Given the description of an element on the screen output the (x, y) to click on. 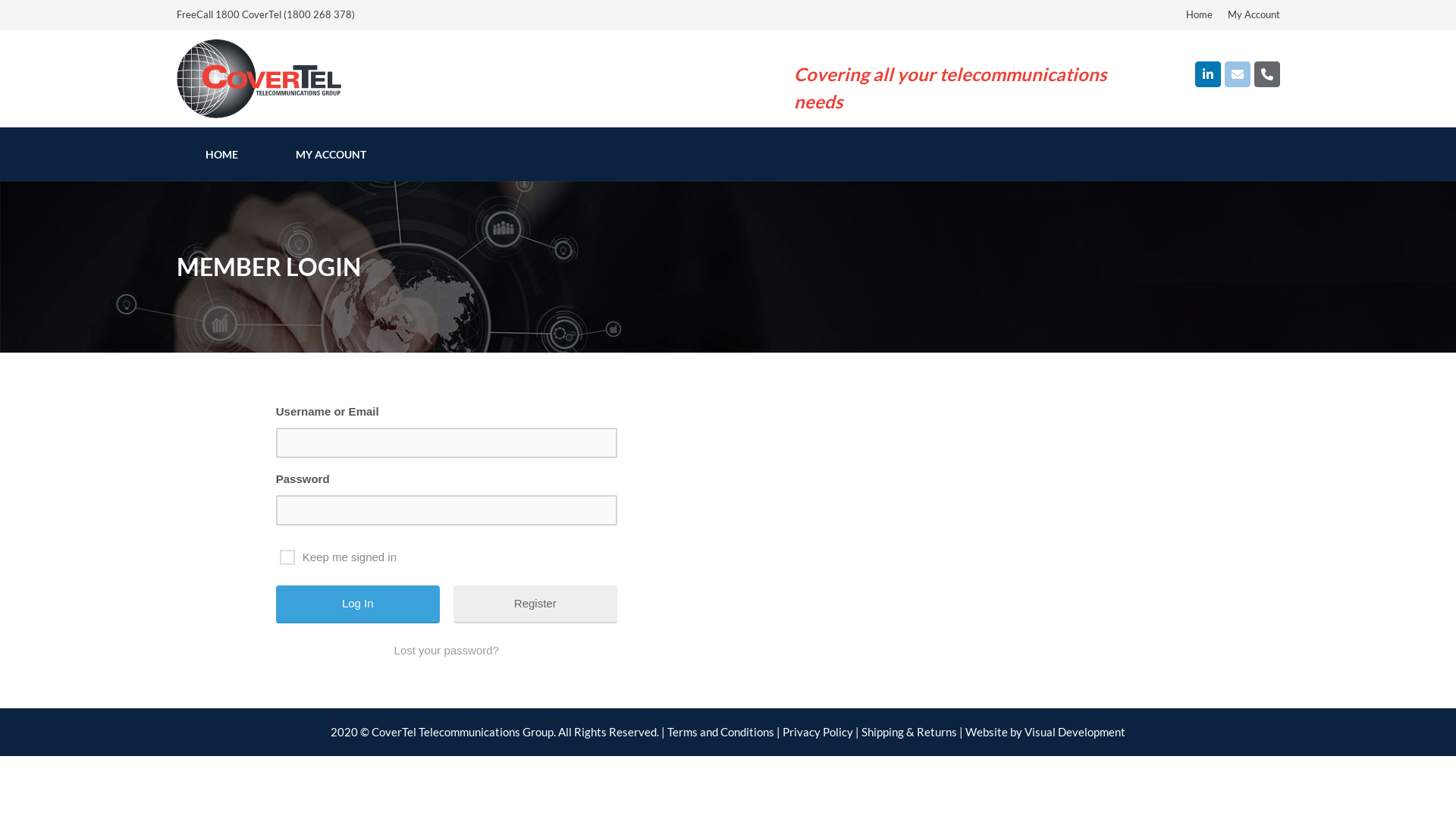
Home Element type: text (1199, 14)
MY ACCOUNT Element type: text (330, 154)
Log In Element type: text (357, 604)
CoverTel Telecommunications Group Element type: hover (258, 76)
Shipping & Returns Element type: text (909, 731)
Register Element type: text (535, 602)
CoverTel Telecommunications Group on Linkedin Element type: hover (1207, 74)
Terms and Conditions Element type: text (720, 731)
CoverTel Telecommunications Group on Envelope Element type: hover (1237, 74)
Lost your password? Element type: text (446, 649)
My Account Element type: text (1252, 14)
Privacy Policy Element type: text (817, 731)
CoverTel Telecommunications Group Element type: hover (258, 78)
Phone CoverTel Telecommunications Group Element type: hover (1267, 74)
HOME Element type: text (220, 154)
